Given the description of an element on the screen output the (x, y) to click on. 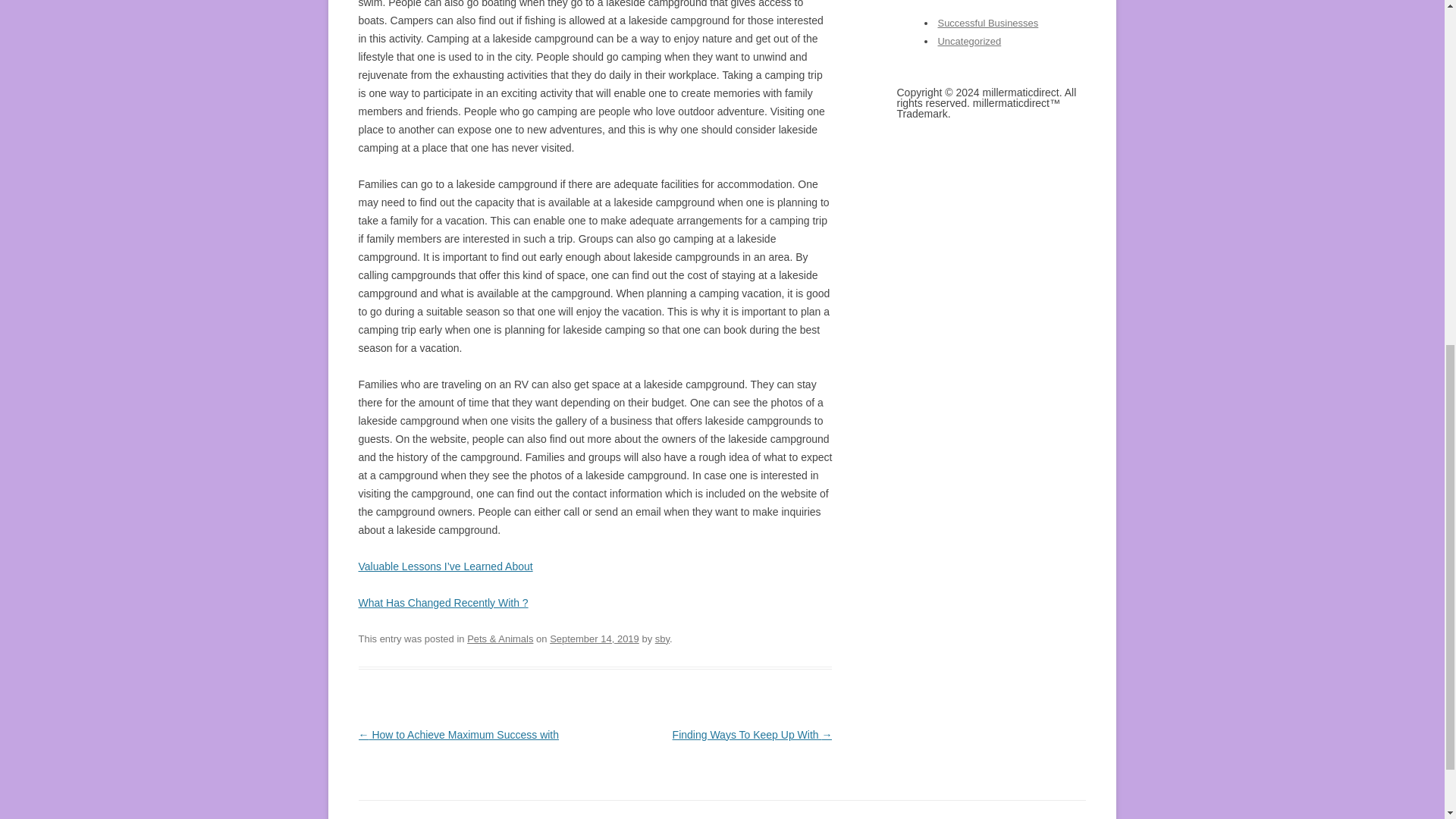
View all posts by sby (662, 638)
View all posts filed under Successful Businesses (987, 22)
sby (662, 638)
View all posts filed under Uncategorized (969, 41)
What Has Changed Recently With ? (442, 603)
Uncategorized (969, 41)
Successful Businesses (987, 22)
September 14, 2019 (594, 638)
8:38 pm (594, 638)
